Given the description of an element on the screen output the (x, y) to click on. 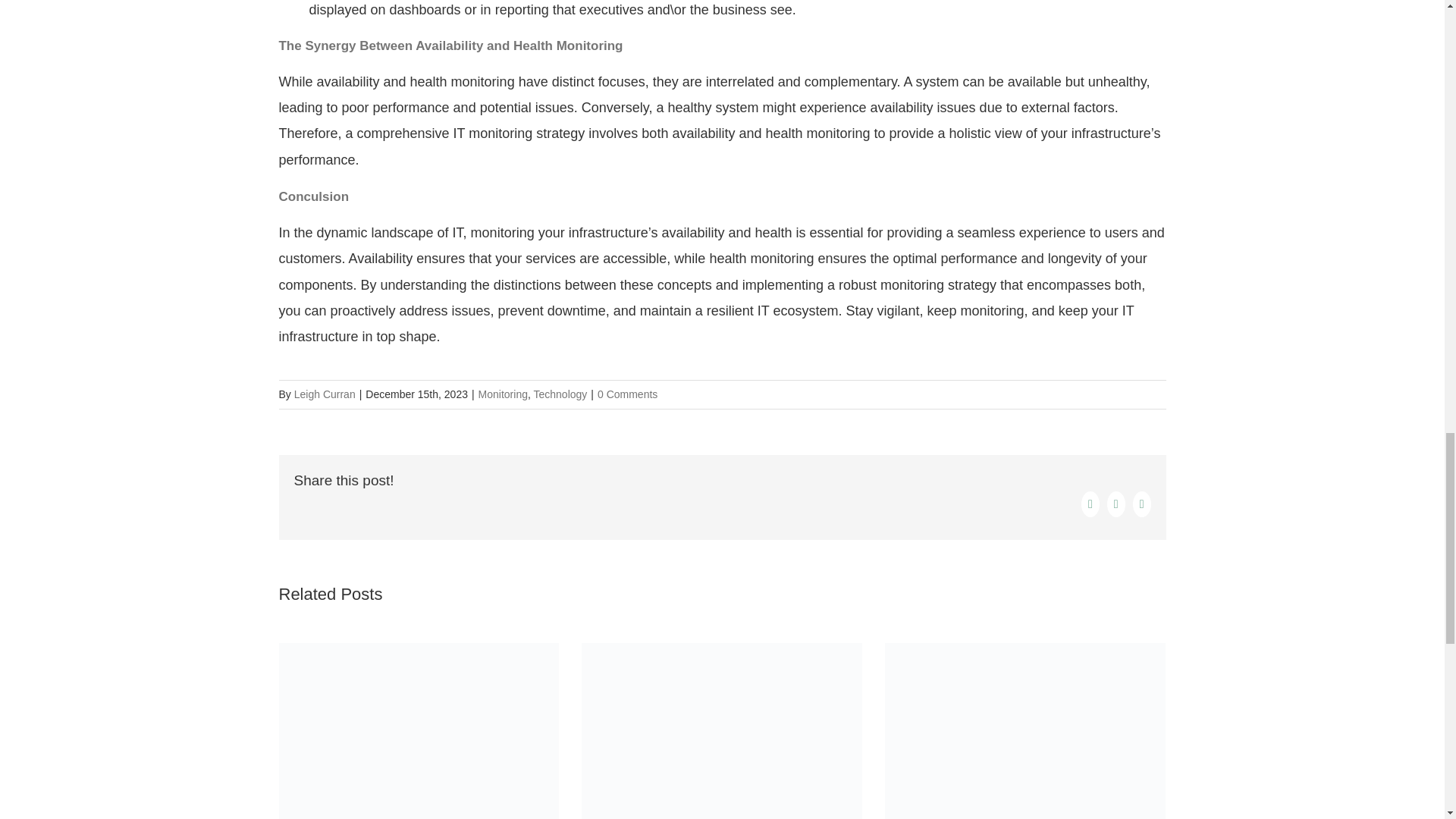
Monitoring (503, 394)
Technology (561, 394)
Posts by Leigh Curran (324, 394)
Leigh Curran (324, 394)
0 Comments (627, 394)
